Given the description of an element on the screen output the (x, y) to click on. 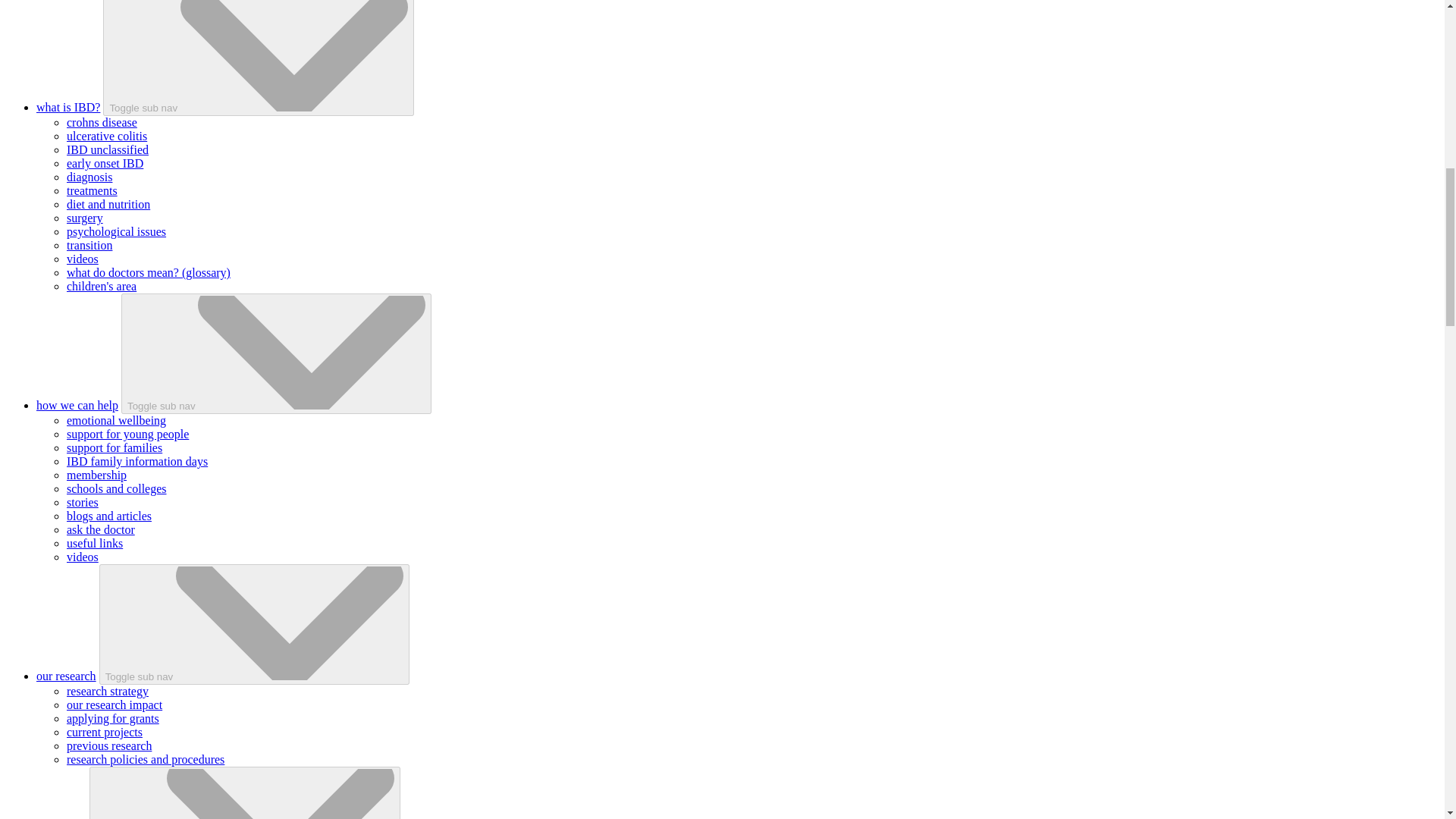
treatments (91, 190)
transition (89, 245)
how we can help (76, 404)
early onset IBD (104, 163)
IBD family information days (137, 461)
support for families (113, 447)
diagnosis (89, 176)
support for young people (127, 433)
what is IBD? (68, 106)
ulcerative colitis (106, 135)
emotional wellbeing (115, 420)
Toggle sub nav (275, 353)
membership (96, 474)
videos (82, 556)
children's area (101, 286)
